Given the description of an element on the screen output the (x, y) to click on. 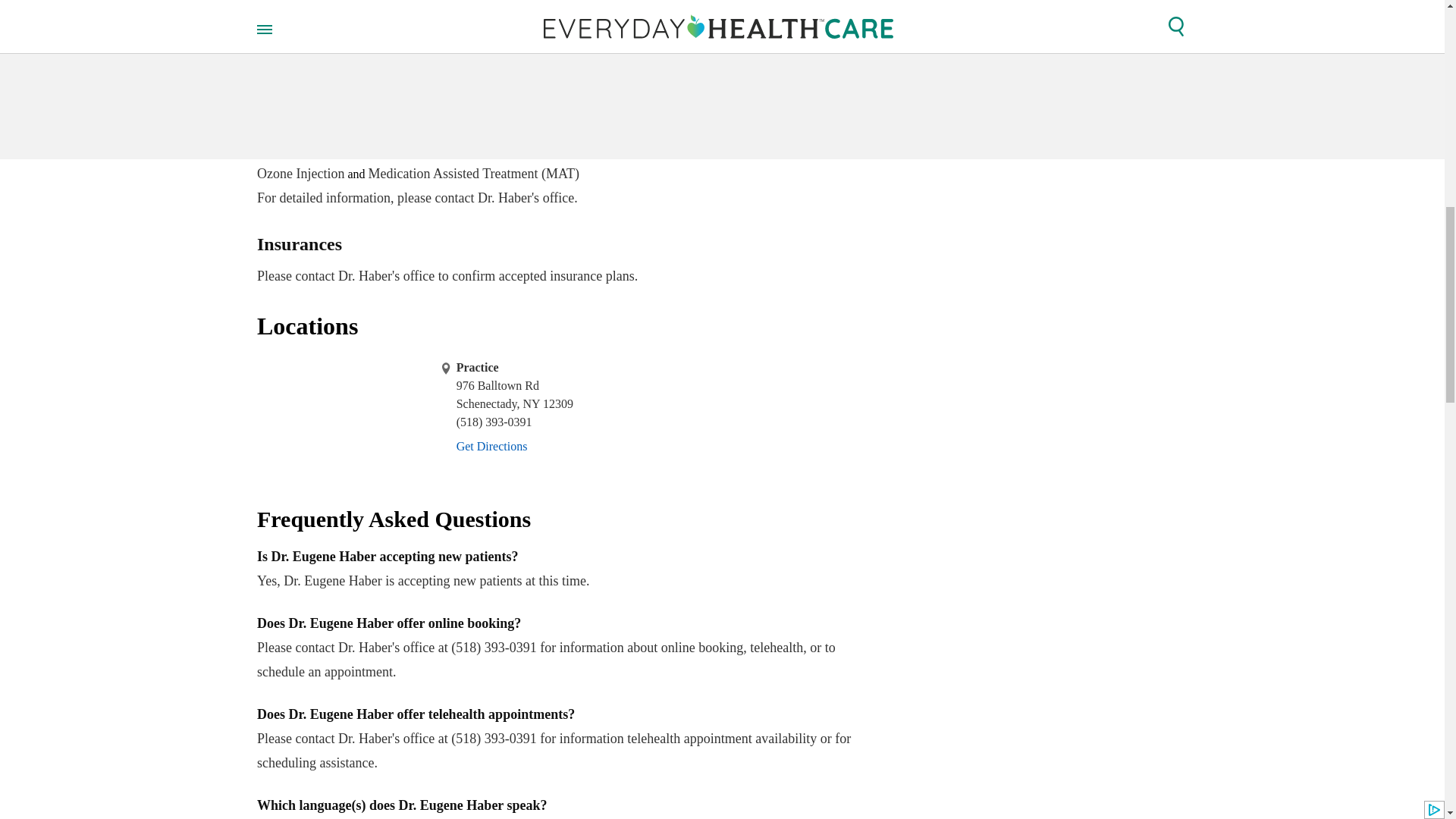
Ozone Injection (300, 173)
Nebulizer Treatment (794, 149)
Get Directions (492, 445)
OB Consultation (386, 149)
ALCAT Testing (560, 23)
Tetanus Shot (612, 149)
Joint Injection (697, 149)
Post-Surgery Checkup (295, 149)
